Given the description of an element on the screen output the (x, y) to click on. 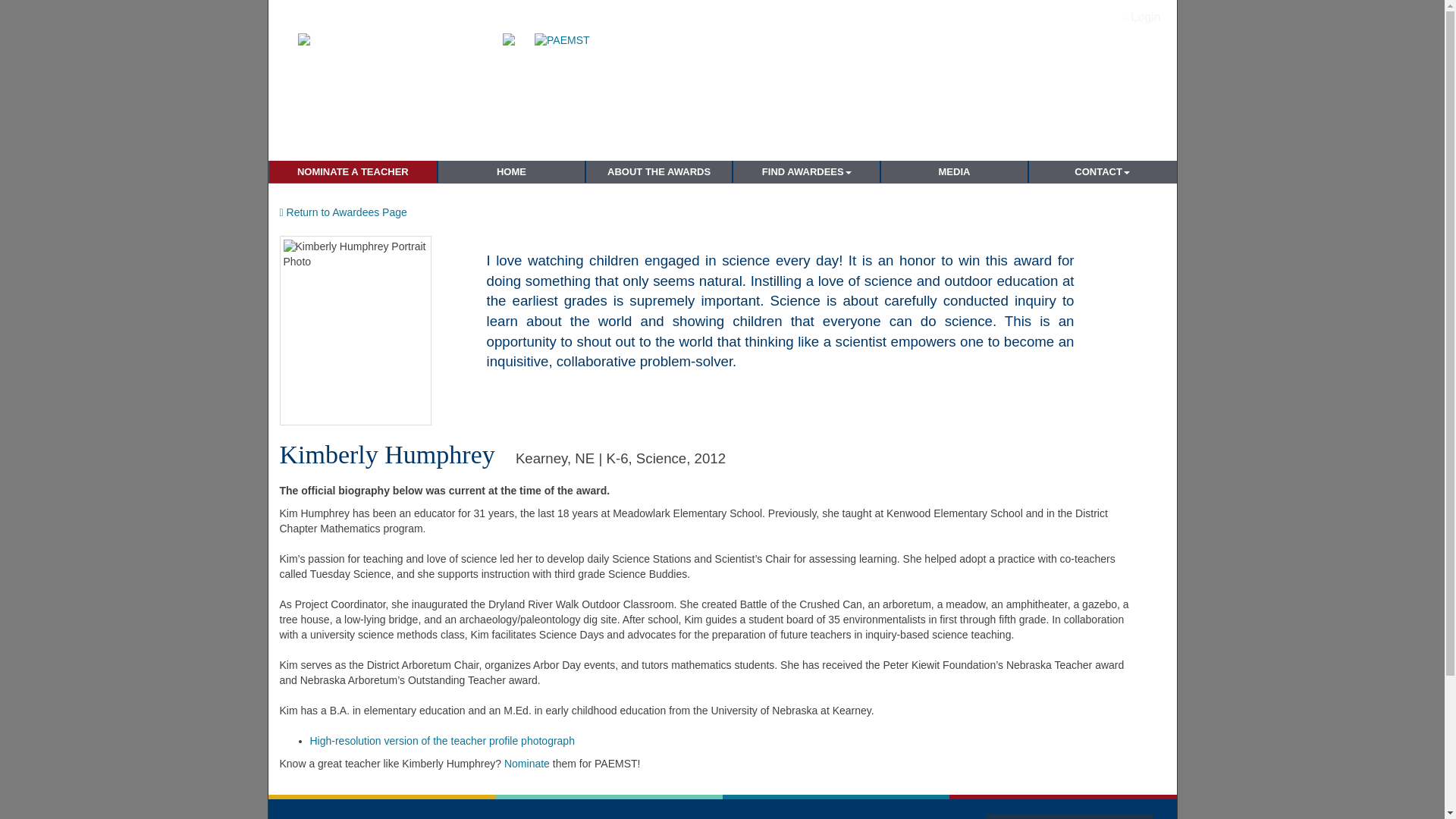
MEDIA (953, 171)
ABOUT THE AWARDS (659, 171)
FIND AWARDEES (806, 171)
NOMINATE A TEACHER (351, 171)
Login (1142, 17)
Return to Awardees Page (342, 212)
High-resolution version of the teacher profile photograph (440, 740)
CONTACT (1102, 171)
Nominate (528, 763)
HOME (511, 171)
